Given the description of an element on the screen output the (x, y) to click on. 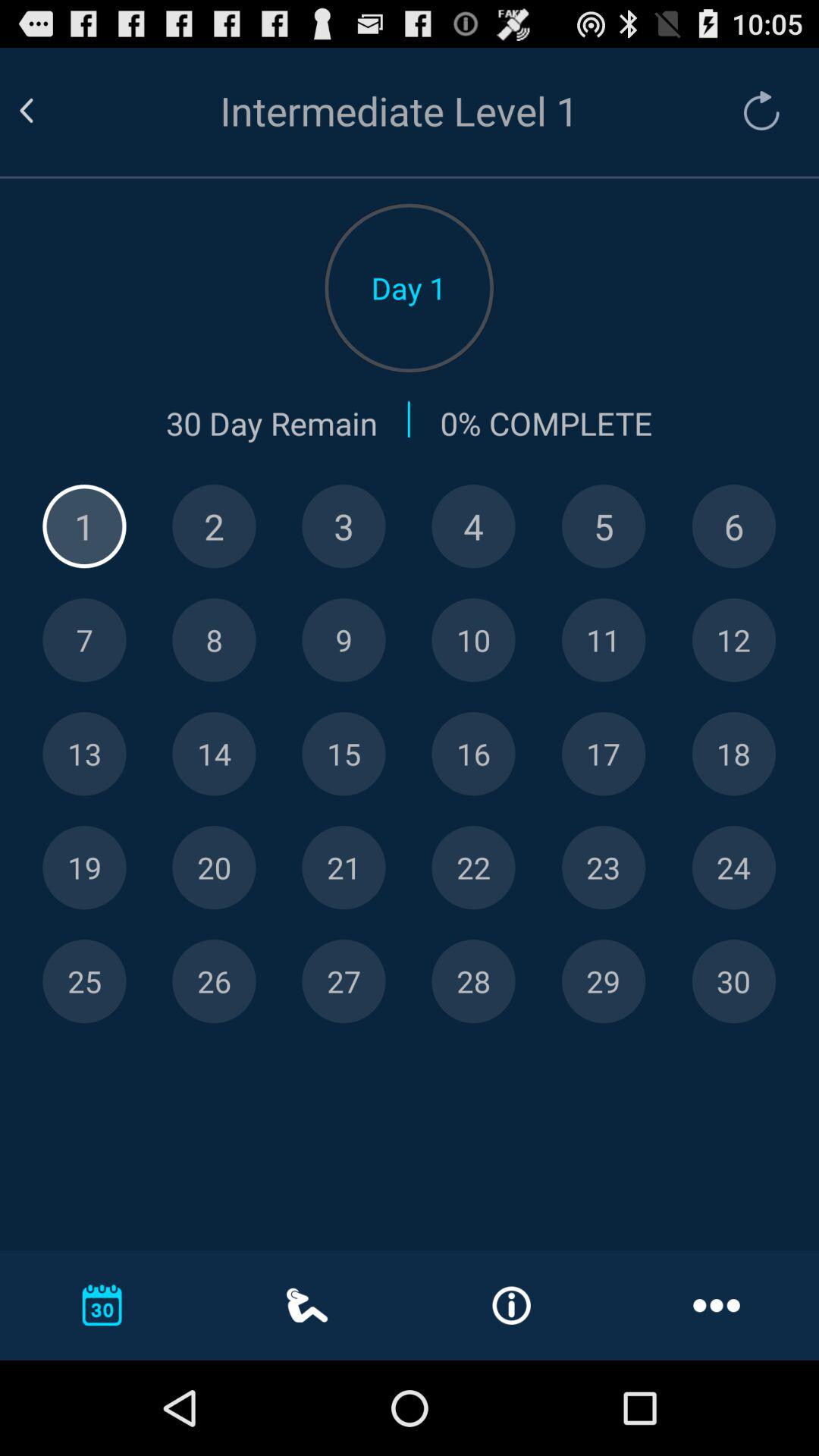
number 21 button (343, 867)
